Given the description of an element on the screen output the (x, y) to click on. 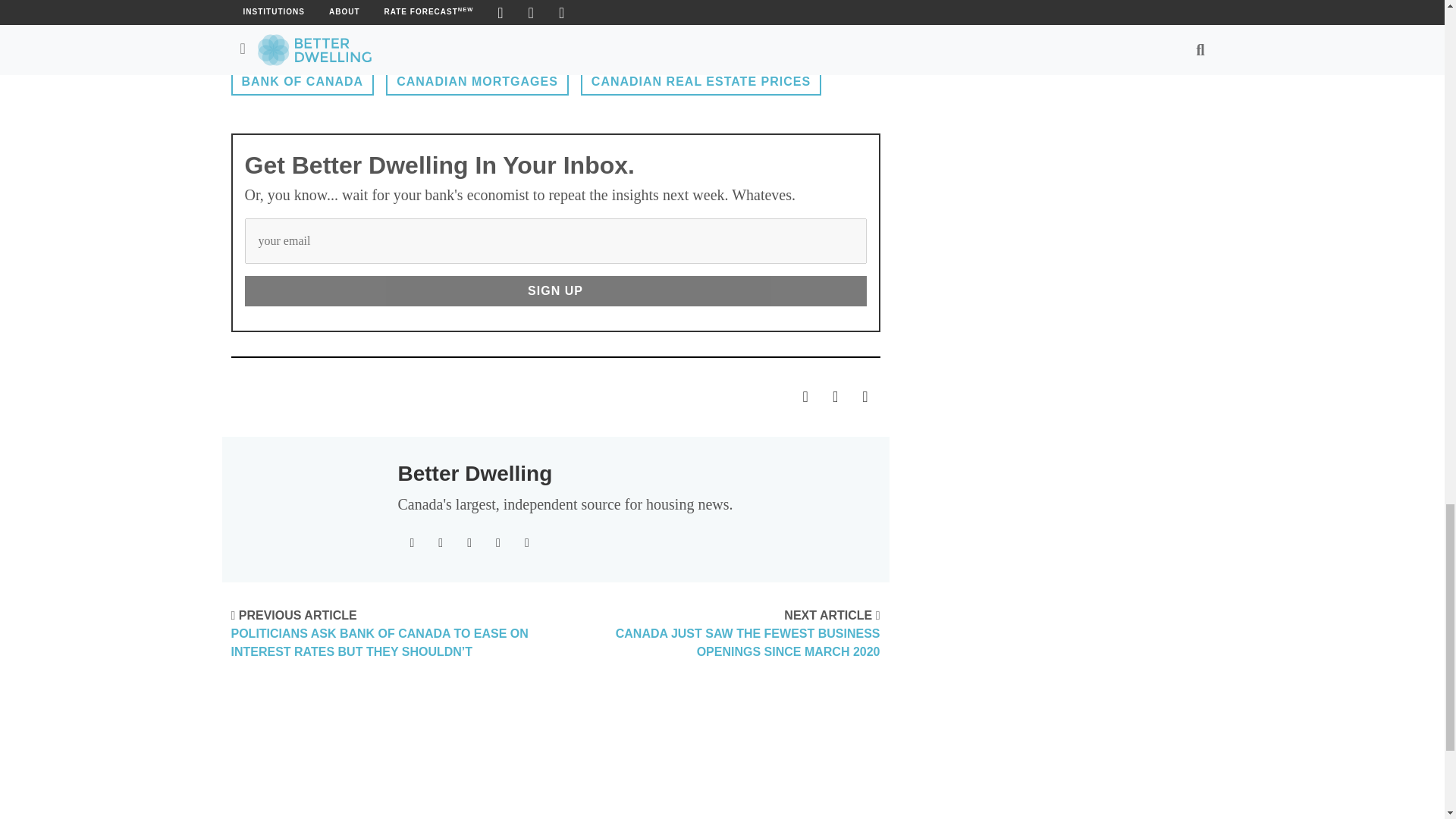
Better Dwelling (474, 473)
CANADIAN MORTGAGES (477, 81)
SIGN UP (555, 291)
CANADIAN REAL ESTATE PRICES (700, 81)
BANK OF CANADA (302, 81)
Posts by Better Dwelling (474, 473)
